Given the description of an element on the screen output the (x, y) to click on. 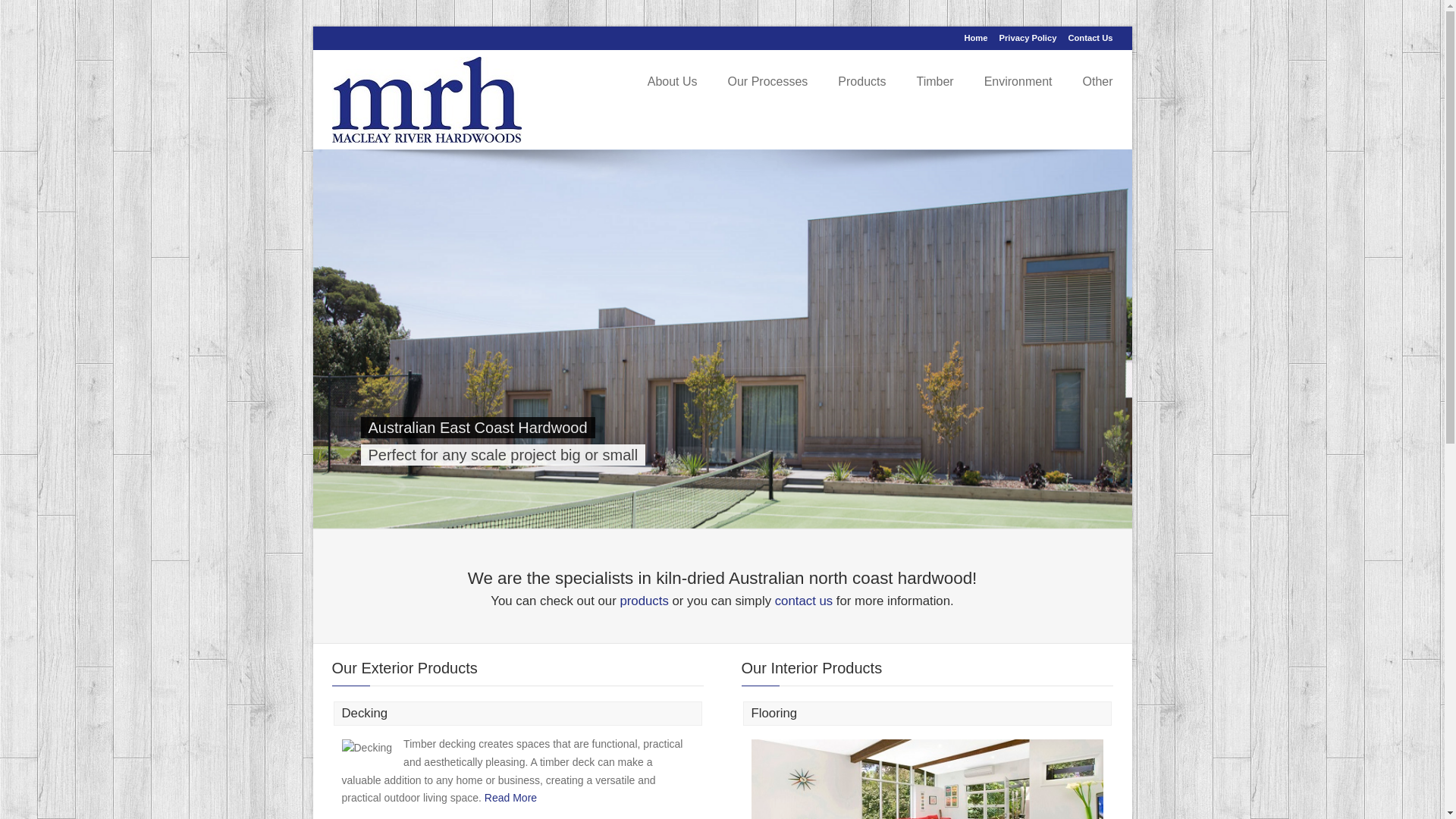
About Us Element type: text (672, 81)
Read More Element type: text (510, 798)
Home Element type: text (975, 37)
Our Processes Element type: text (767, 81)
contact us Element type: text (804, 600)
Products Element type: text (861, 81)
Contact Us Element type: text (1089, 37)
Timber Element type: text (934, 81)
Environment Element type: text (1017, 81)
Privacy Policy Element type: text (1028, 37)
products Element type: text (643, 600)
Other Element type: text (1096, 81)
